Given the description of an element on the screen output the (x, y) to click on. 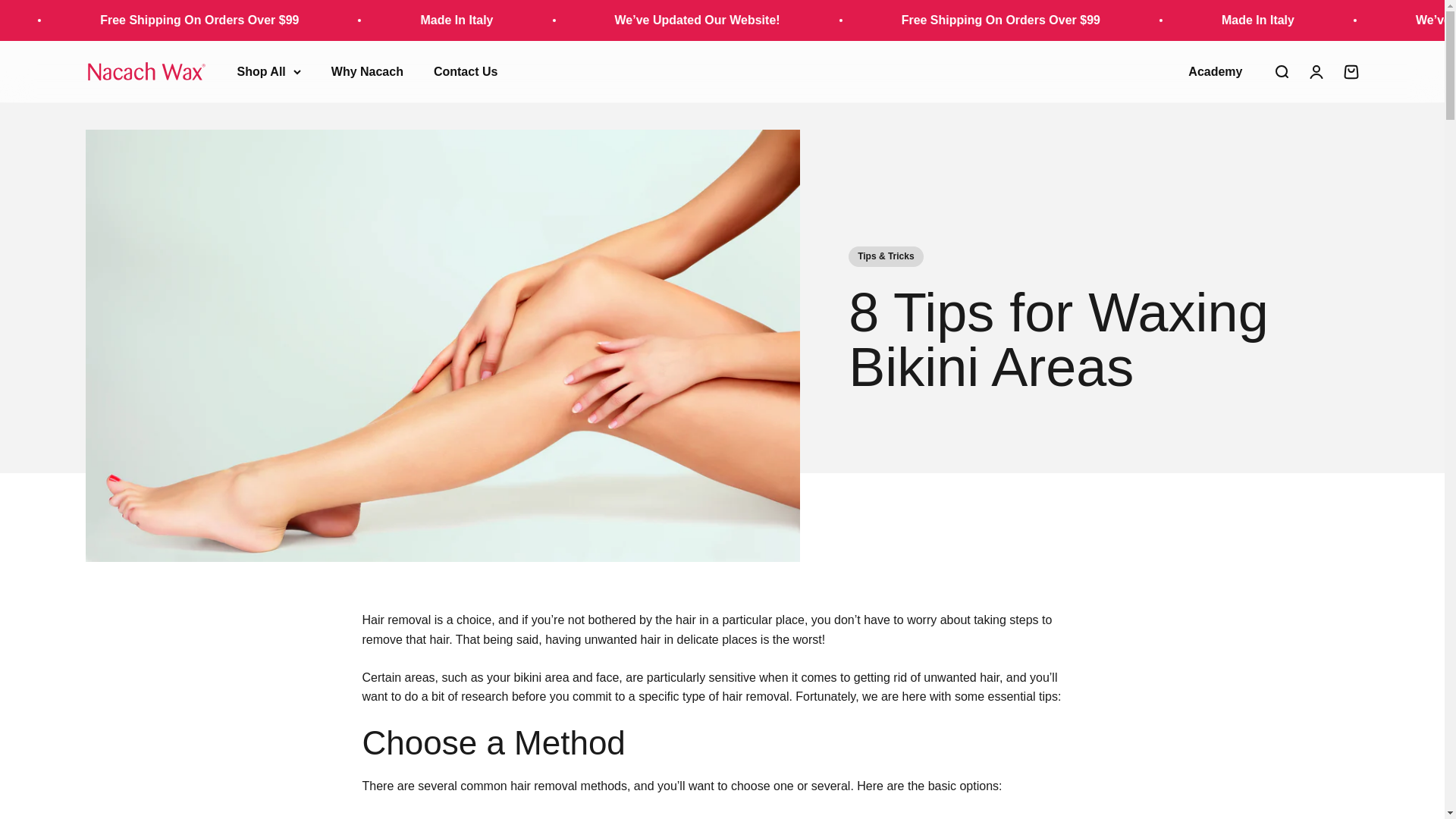
Shop All (267, 71)
Open search (1280, 71)
Academy (1214, 71)
Contact Us (465, 71)
Nacach Wax (145, 71)
Why Nacach (1350, 71)
Open account page (367, 71)
